Given the description of an element on the screen output the (x, y) to click on. 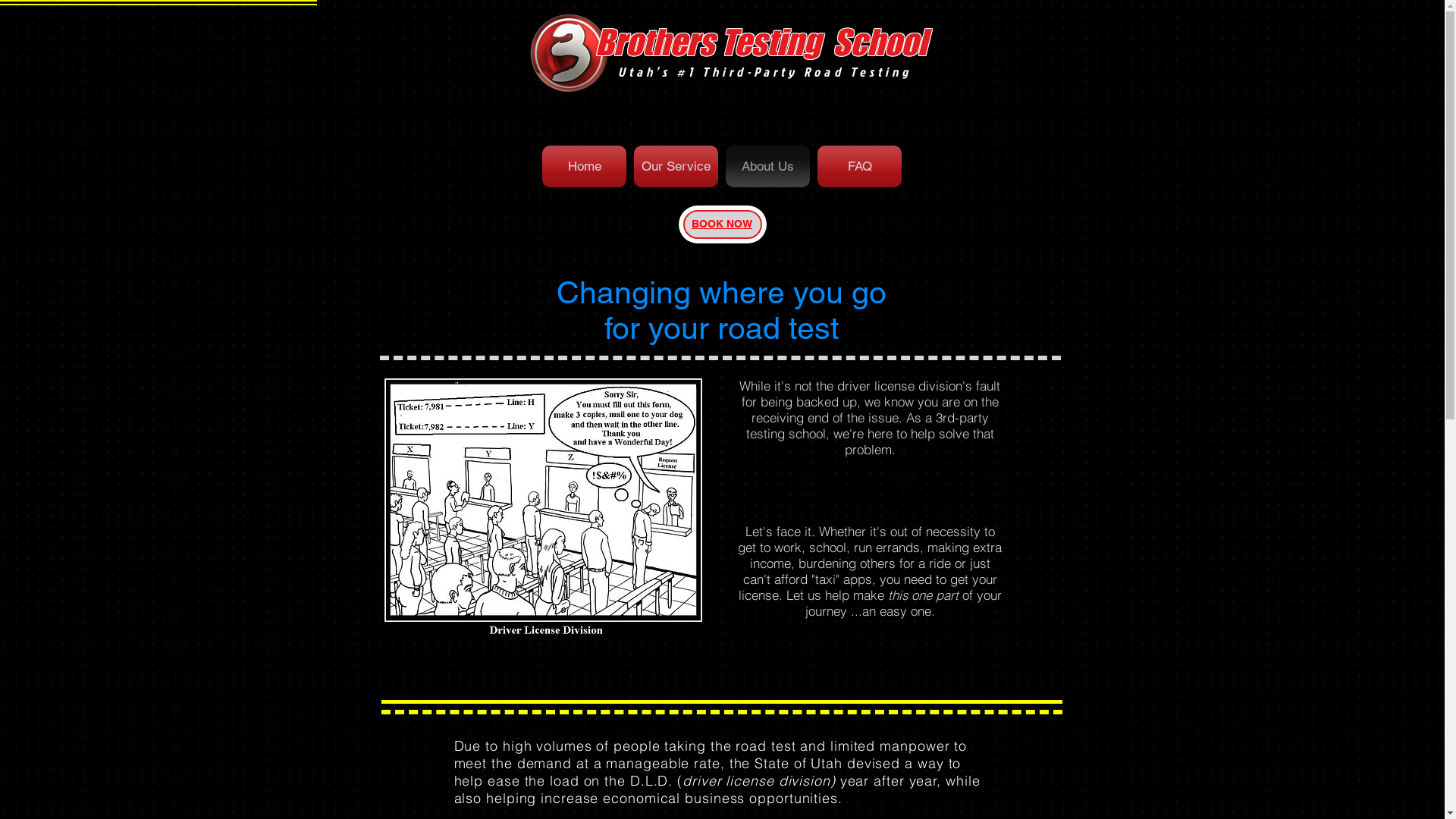
BOOK NOW Element type: text (721, 223)
Our Service Element type: text (675, 166)
Home Element type: text (584, 166)
Brothers Testing  School Element type: text (759, 41)
About Us Element type: text (767, 166)
FAQ Element type: text (859, 166)
